Given the description of an element on the screen output the (x, y) to click on. 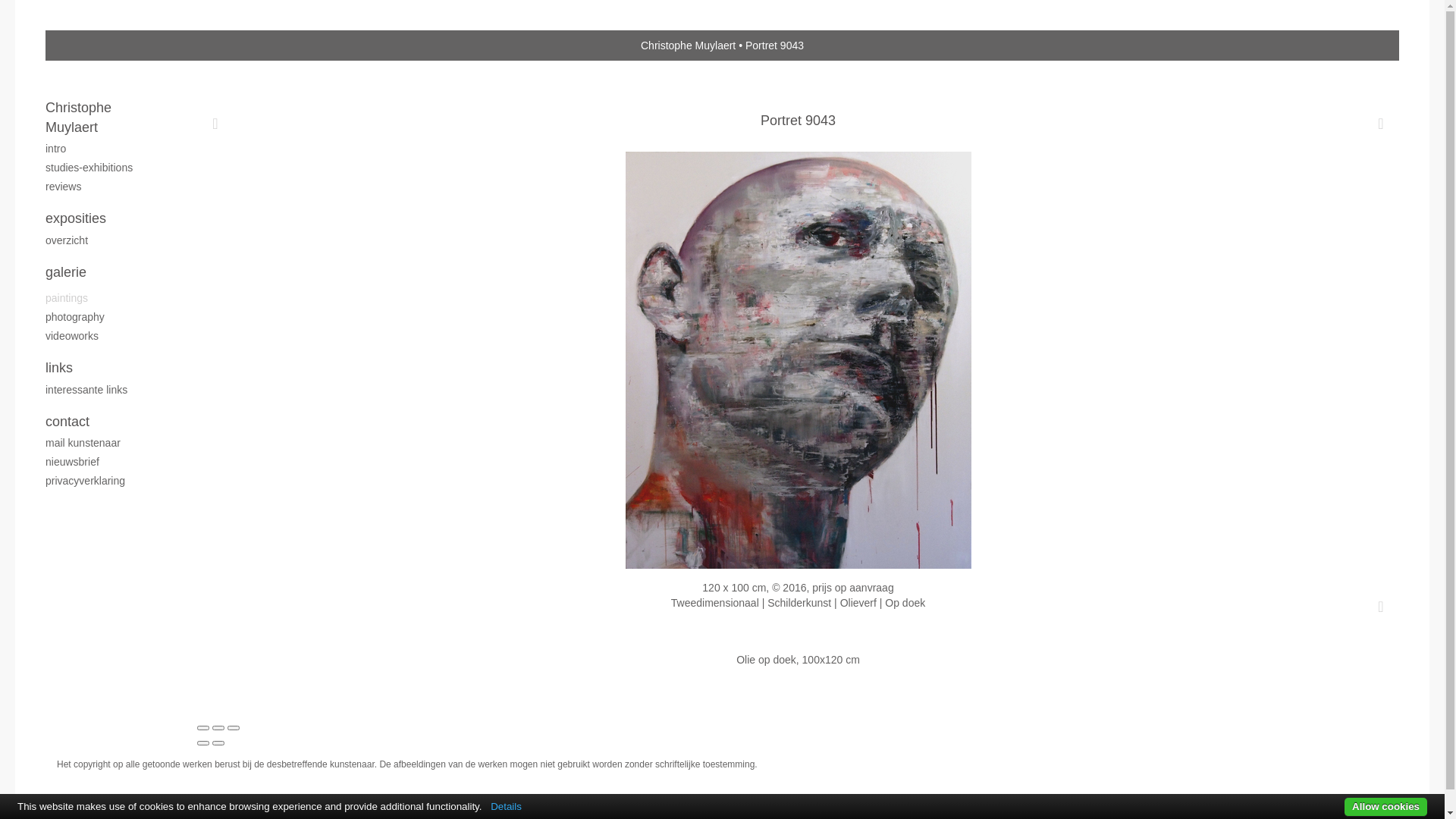
links Element type: text (105, 368)
Reageren Element type: hover (1380, 605)
photography Element type: text (105, 316)
Allow cookies Element type: text (1385, 806)
galerie Element type: text (105, 272)
nieuwsbrief Element type: text (105, 461)
privacyverklaring Element type: text (105, 480)
Vorige Element type: hover (215, 122)
videoworks Element type: text (105, 335)
reviews Element type: text (105, 186)
paintings Element type: text (105, 297)
Details Element type: text (505, 806)
mail kunstenaar Element type: text (105, 442)
intro Element type: text (105, 148)
Volgende Element type: hover (1380, 122)
studies-exhibitions Element type: text (105, 167)
overzicht Element type: text (105, 239)
Toggle fullscreen Element type: hover (218, 727)
Next (arrow right) Element type: hover (218, 742)
Christophe Muylaert Element type: text (105, 117)
Close (Esc) Element type: hover (203, 727)
Christophe Muylaert Element type: text (687, 45)
interessante links Element type: text (105, 389)
Zoom in/out Element type: hover (233, 727)
contact Element type: text (105, 422)
exposities Element type: text (105, 219)
Previous (arrow left) Element type: hover (203, 742)
